Given the description of an element on the screen output the (x, y) to click on. 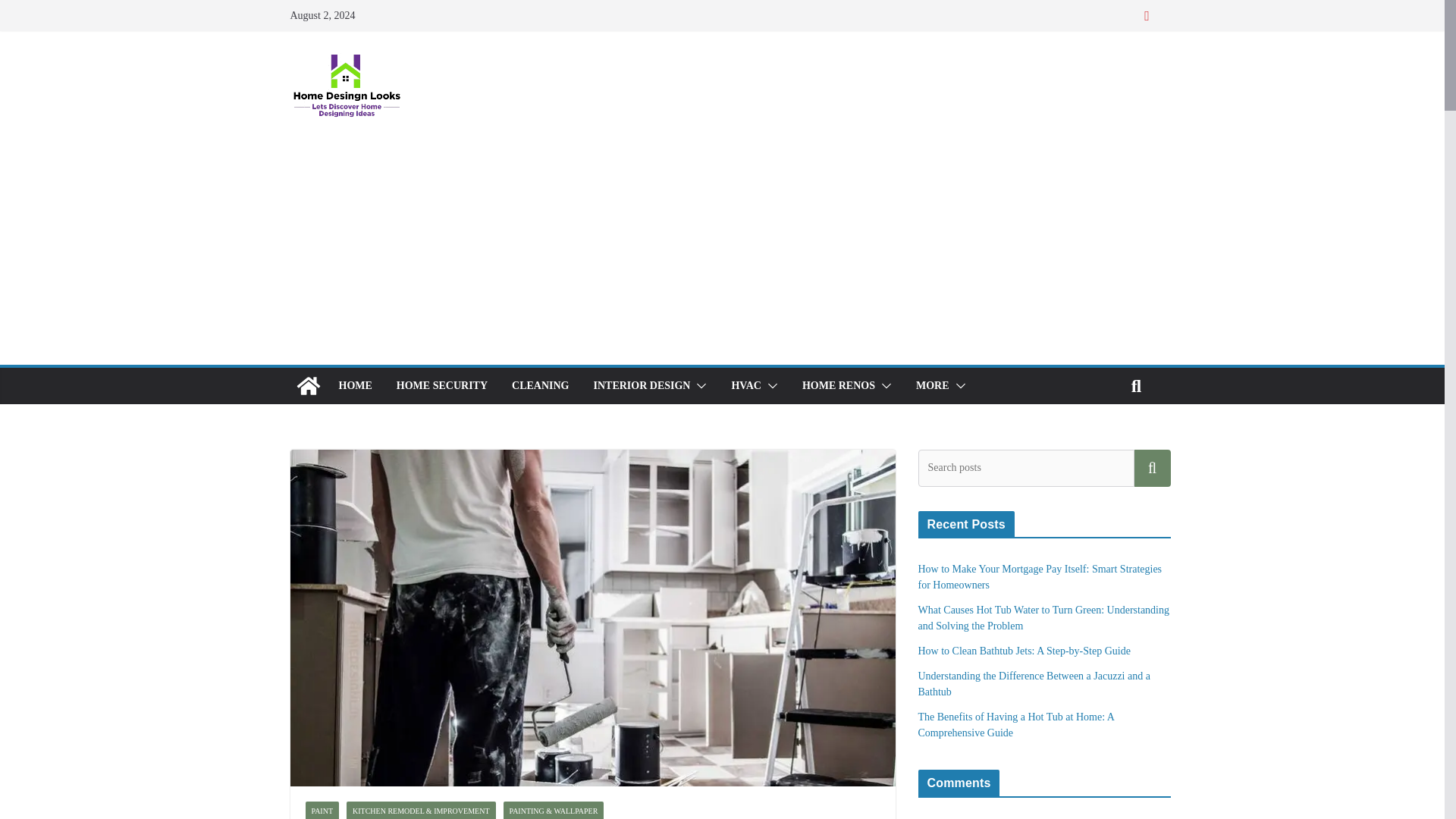
HOME SECURITY (441, 385)
HOME (354, 385)
HOME RENOS (838, 385)
CLEANING (540, 385)
HVAC (745, 385)
PAINT (321, 810)
INTERIOR DESIGN (641, 385)
Best blog for solution for home problems (307, 385)
MORE (932, 385)
